Given the description of an element on the screen output the (x, y) to click on. 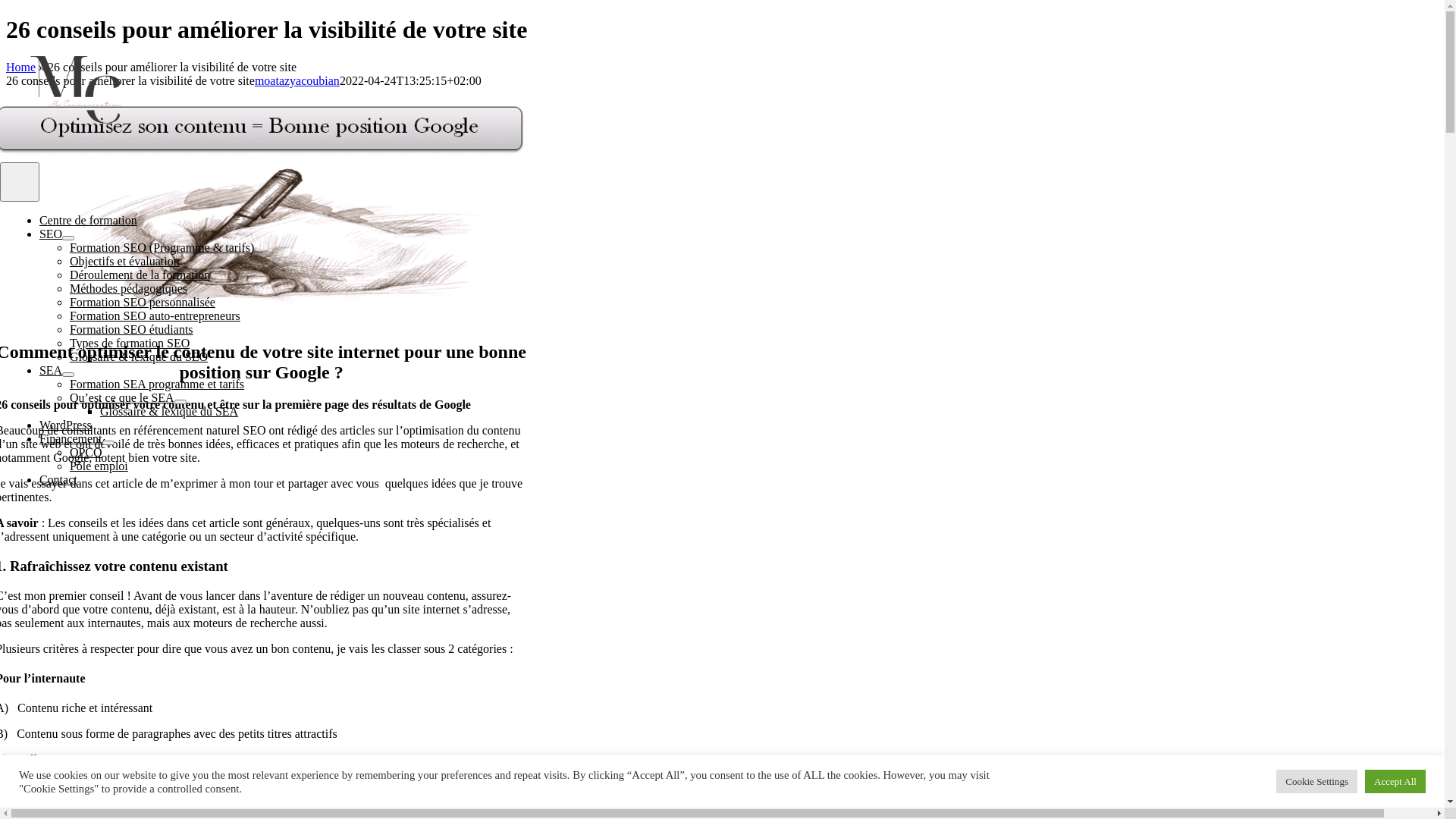
OPCO Element type: text (85, 451)
Financement Element type: text (70, 438)
Formation SEO (Programme & tarifs) Element type: text (161, 247)
Toggle Navigation Element type: text (19, 181)
Home Element type: text (20, 66)
Types de formation SEO Element type: text (129, 342)
Cookie Settings Element type: text (1316, 781)
Accept All Element type: text (1395, 781)
Centre de formation Element type: text (88, 219)
Formation SEA programme et tarifs Element type: text (156, 383)
moatazyacoubian Element type: text (296, 80)
WordPress Element type: text (65, 424)
Glossaire & lexique du SEA Element type: text (169, 410)
Glossaire & lexique du SEO Element type: text (138, 356)
SEA Element type: text (50, 370)
SEO Element type: text (50, 233)
Contact Element type: text (58, 479)
Skip to content Element type: text (5, 15)
Formation SEO auto-entrepreneurs Element type: text (154, 315)
